Given the description of an element on the screen output the (x, y) to click on. 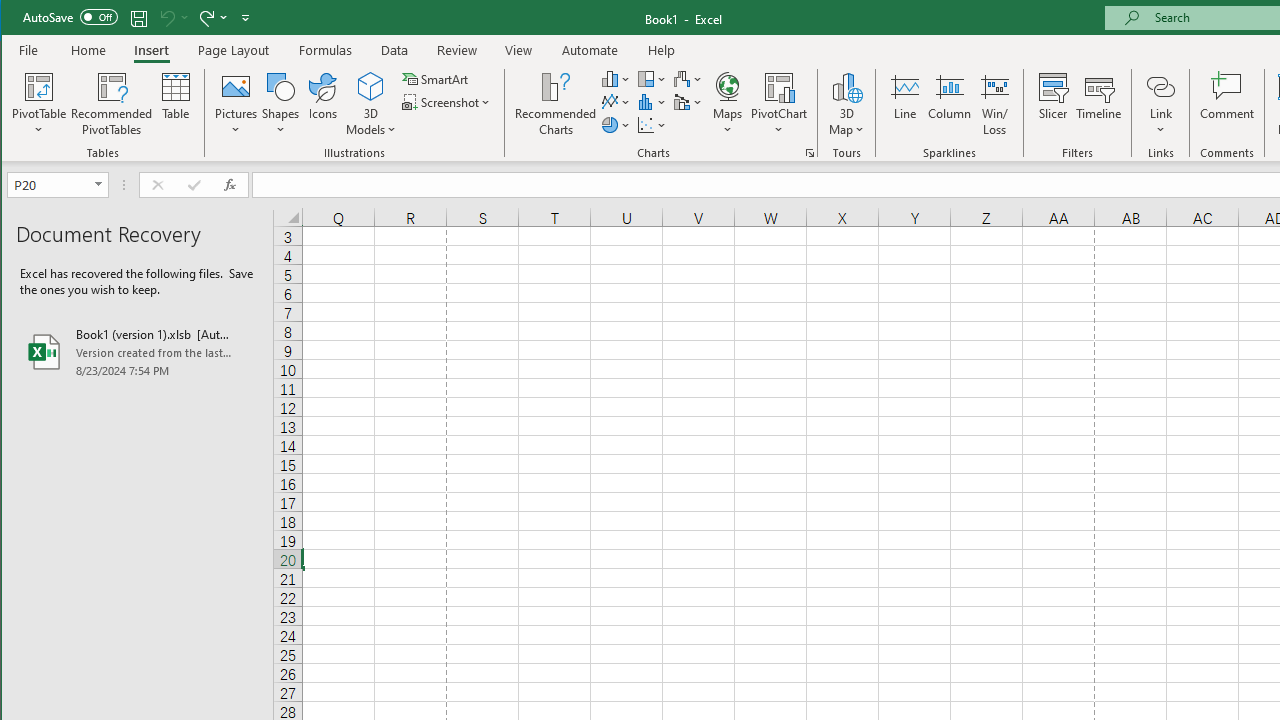
PivotChart (779, 104)
Shapes (280, 104)
Pictures (235, 104)
Icons (323, 104)
SmartArt... (436, 78)
PivotTable (39, 86)
